Given the description of an element on the screen output the (x, y) to click on. 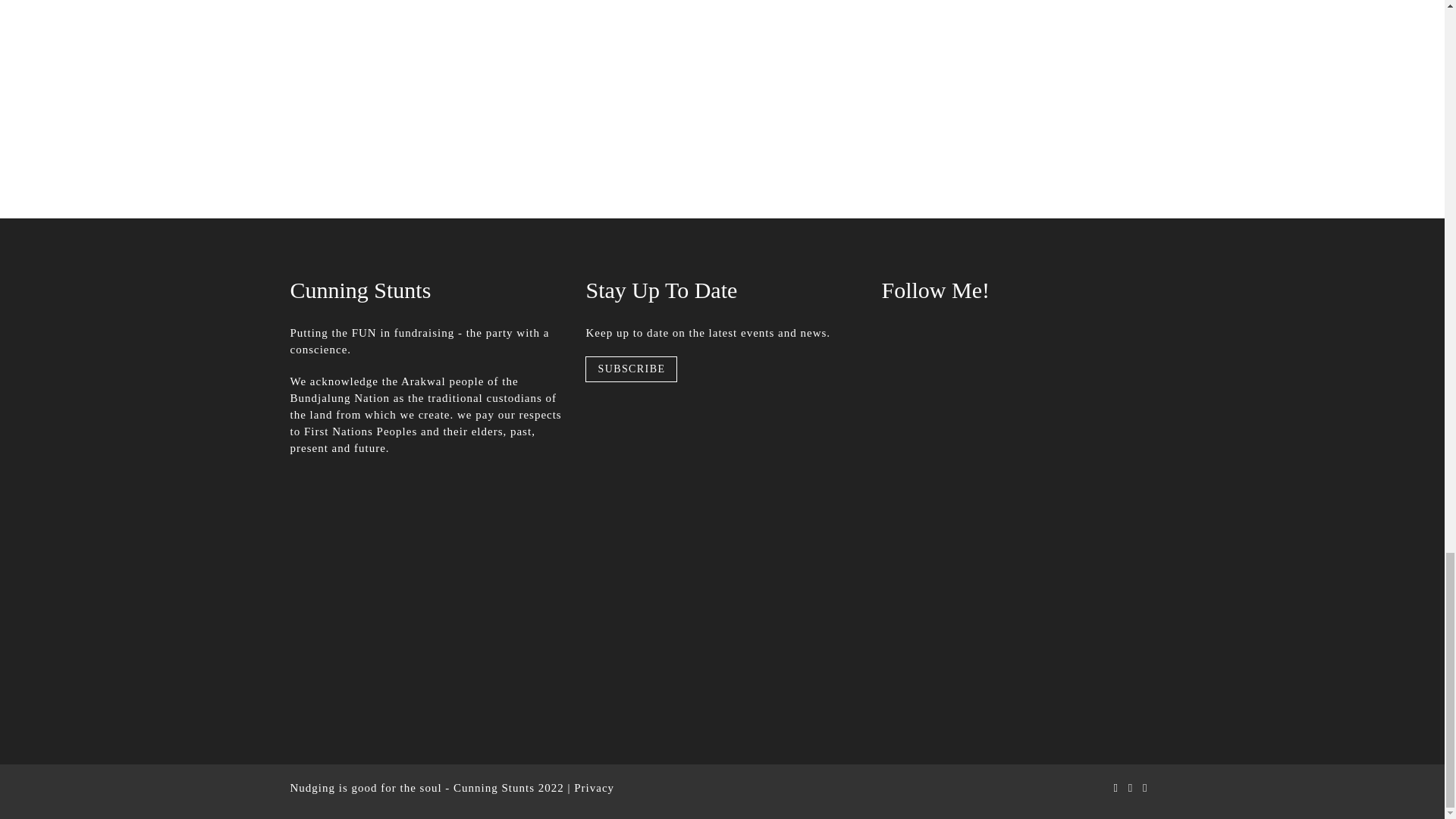
SUBSCRIBE (631, 369)
Privacy (593, 787)
Likebox Iframe (1017, 400)
